Given the description of an element on the screen output the (x, y) to click on. 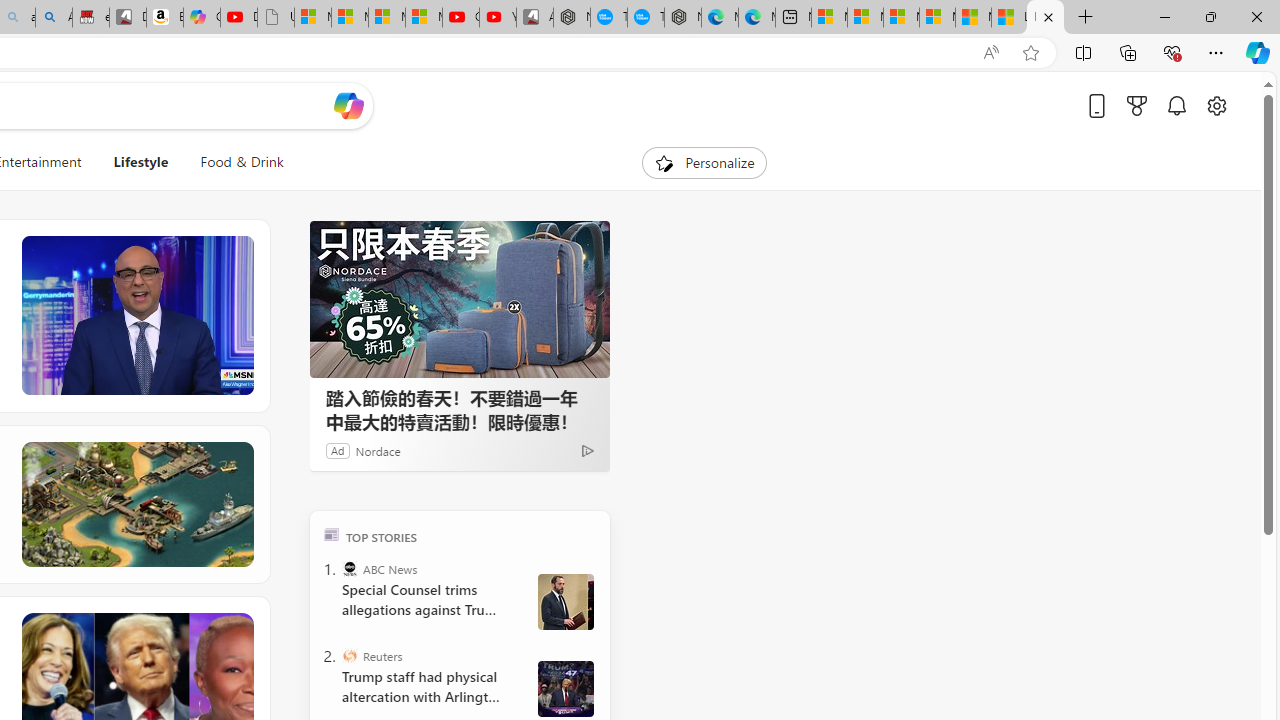
Class: hero-image (136, 316)
Food & Drink (234, 162)
TOP (331, 534)
MSNBC - MSN (1045, 17)
Lifestyle (141, 162)
